Given the description of an element on the screen output the (x, y) to click on. 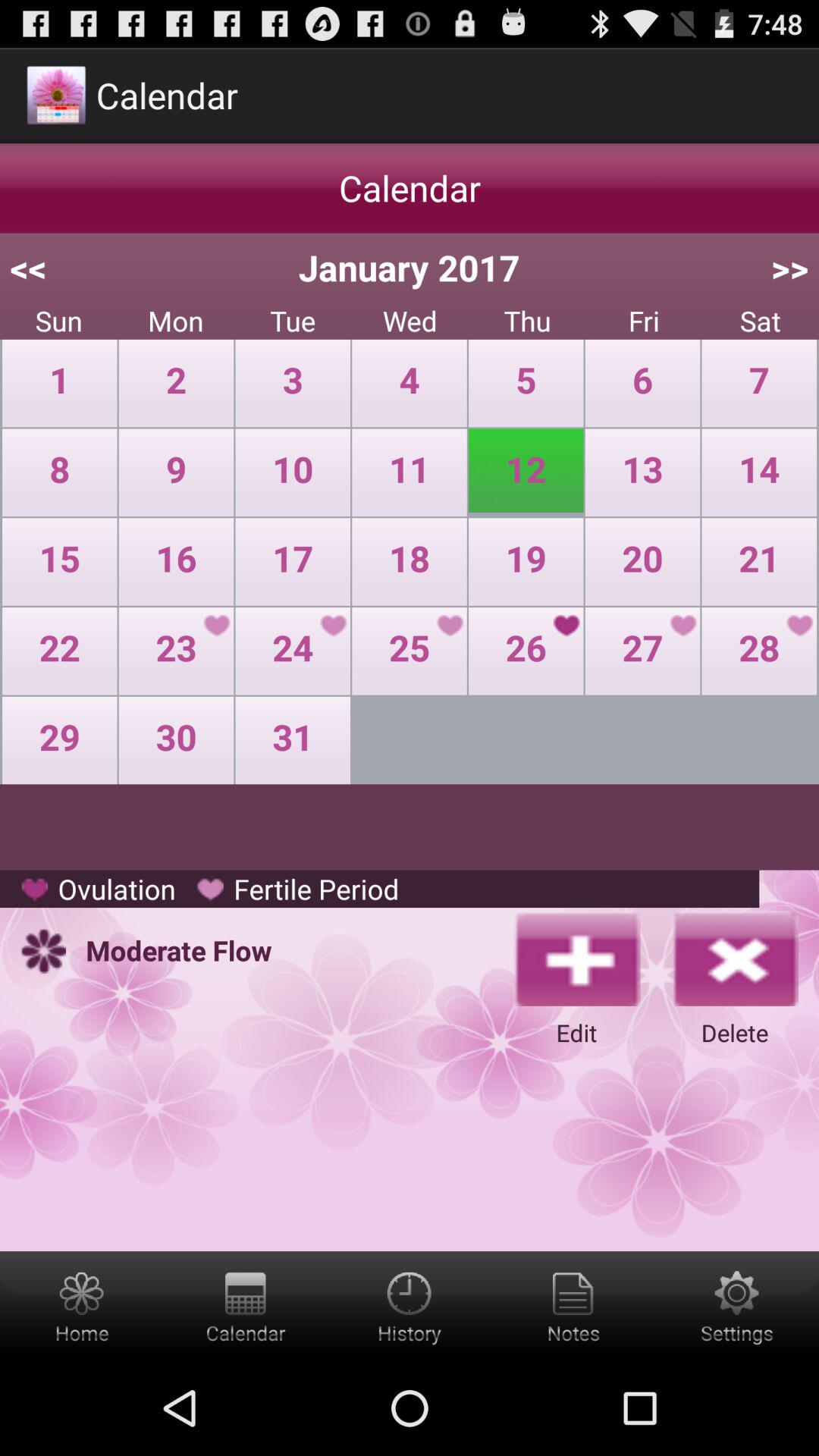
delete this day 's listed event (734, 958)
